Given the description of an element on the screen output the (x, y) to click on. 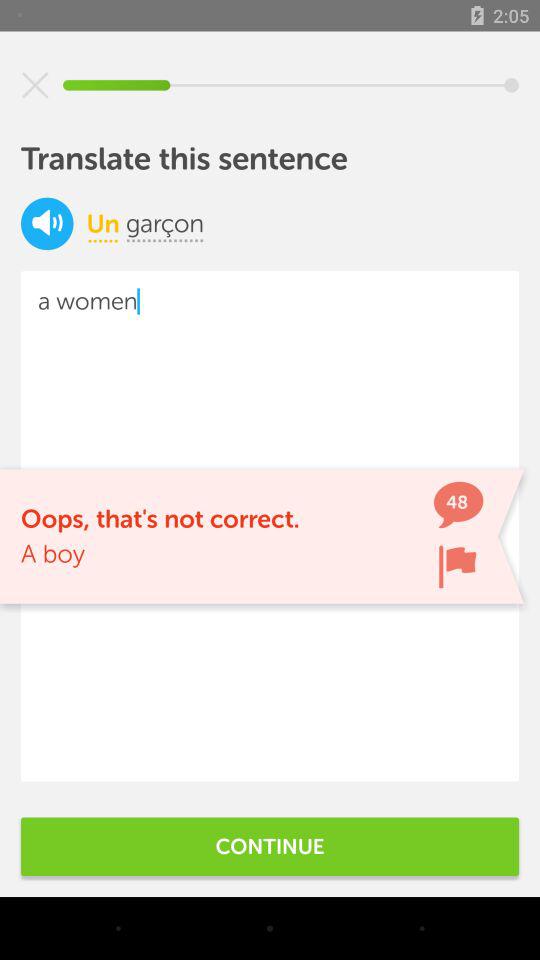
mutes the sound (47, 223)
